Given the description of an element on the screen output the (x, y) to click on. 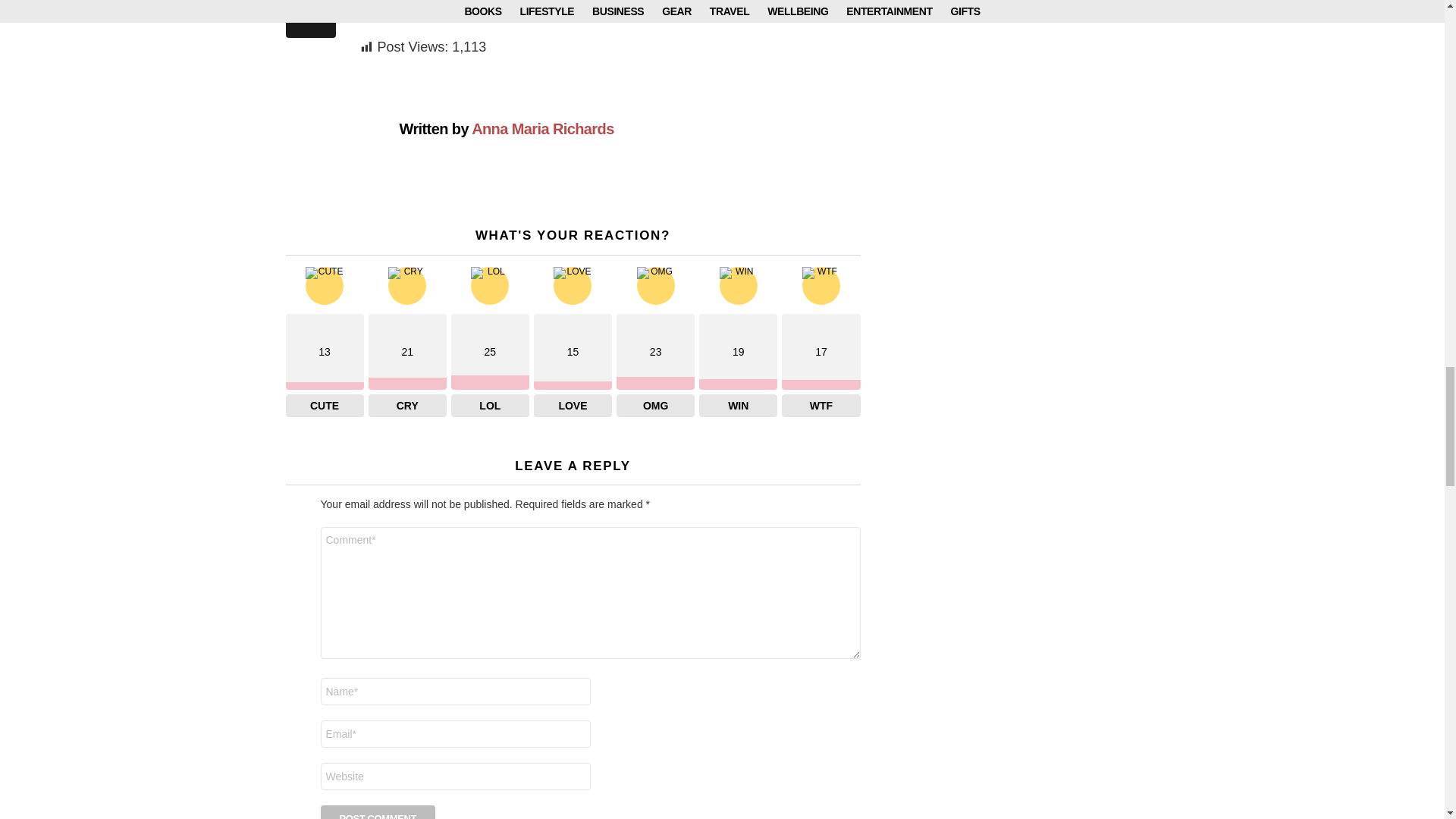
Post Comment (377, 812)
